Given the description of an element on the screen output the (x, y) to click on. 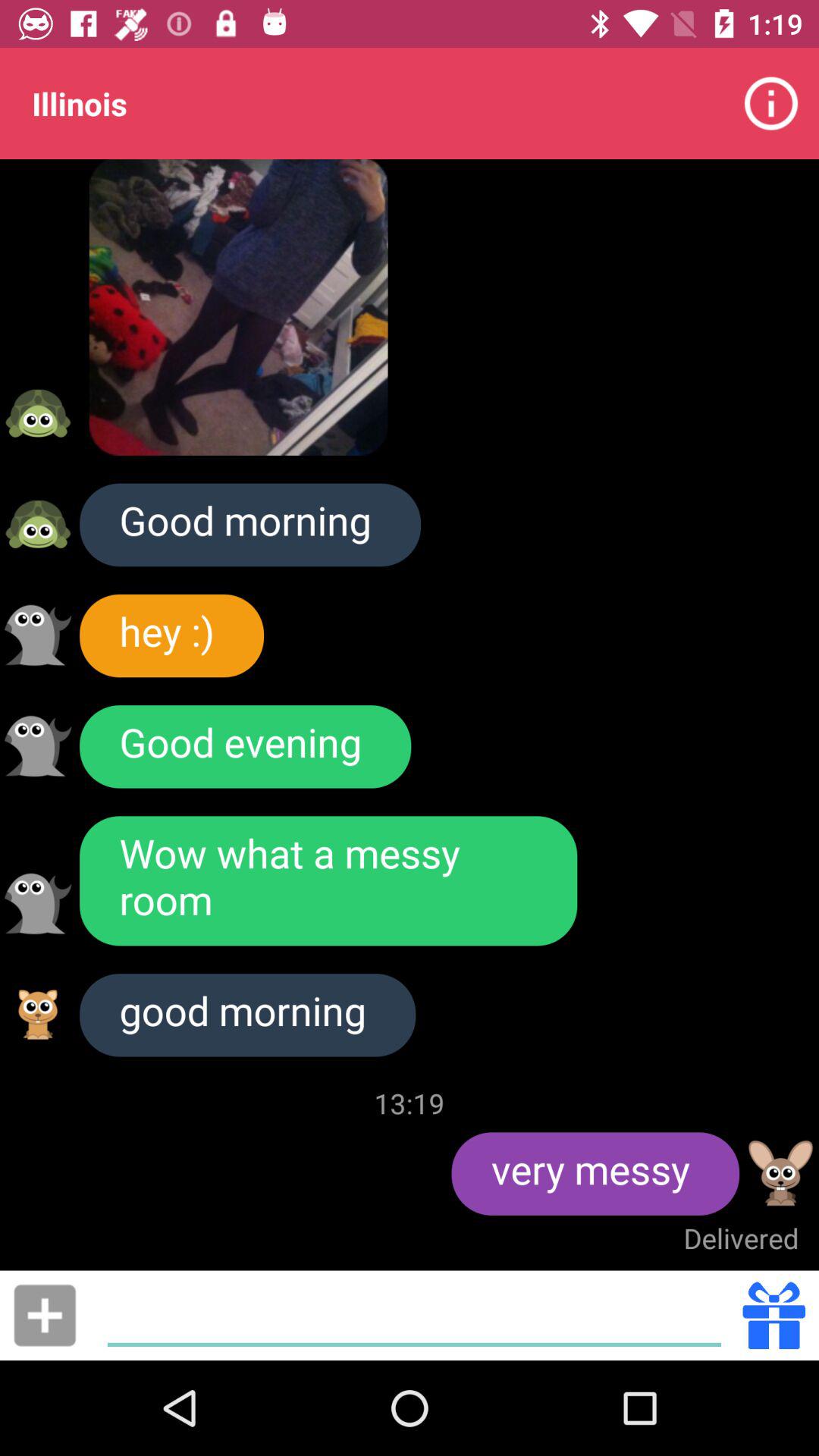
open user 's profile (38, 524)
